Given the description of an element on the screen output the (x, y) to click on. 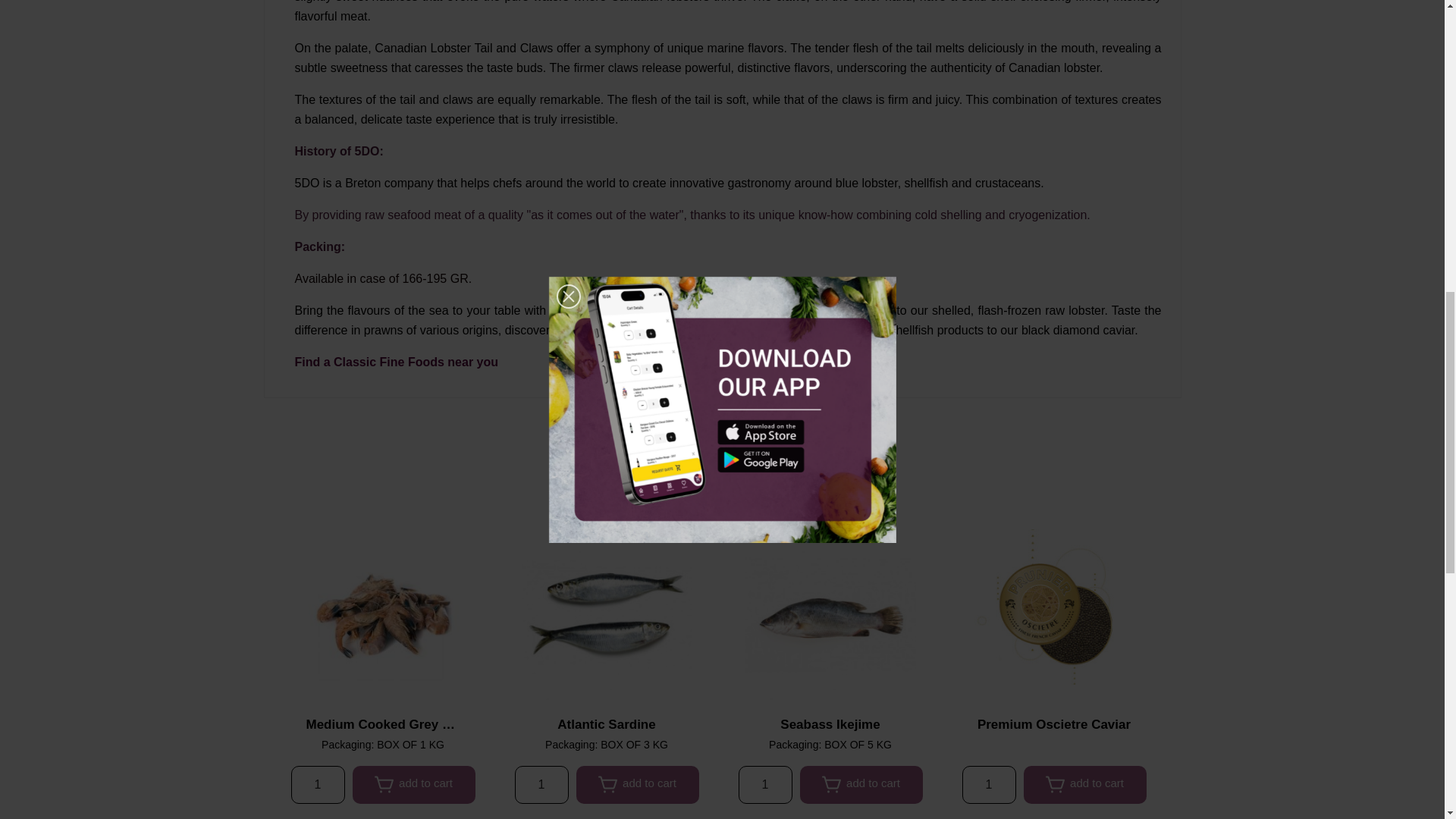
1 (540, 784)
1 (987, 784)
1 (765, 784)
1 (318, 784)
